Given the description of an element on the screen output the (x, y) to click on. 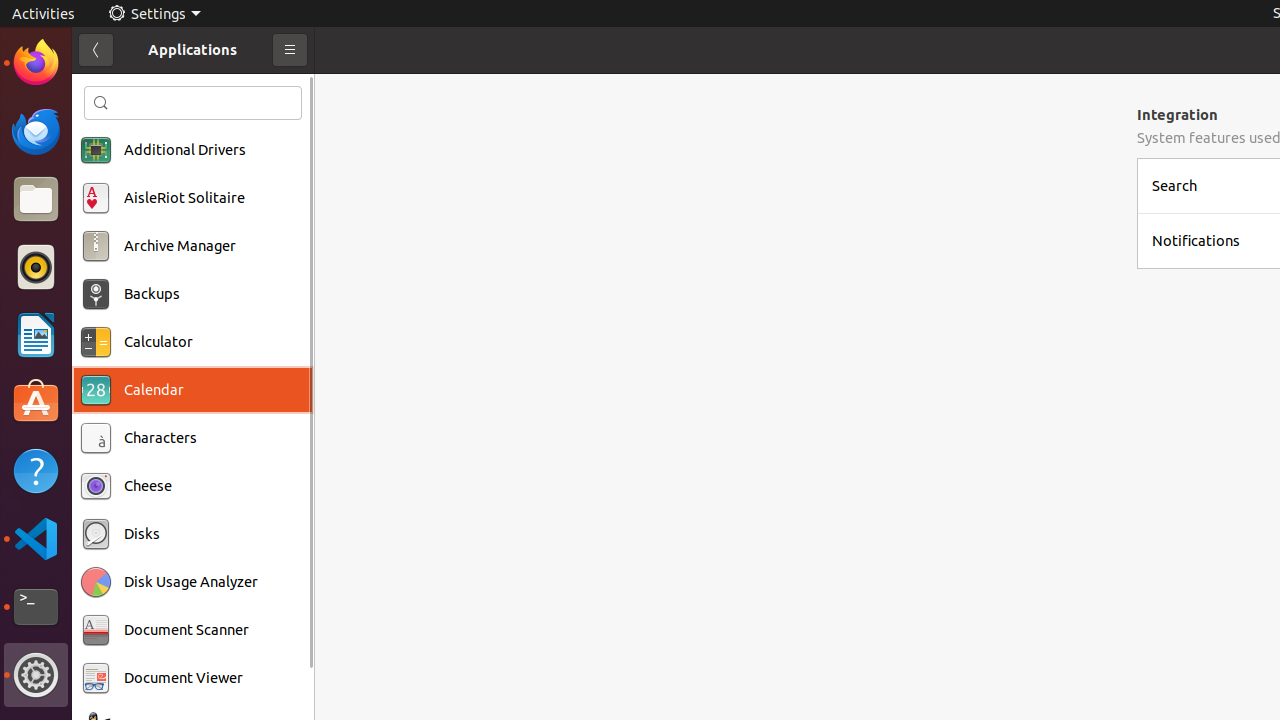
Trash Element type: label (133, 191)
Search Element type: text (193, 103)
Settings Element type: menu (154, 13)
Activities Element type: label (43, 13)
Terminal Element type: push-button (36, 607)
